Given the description of an element on the screen output the (x, y) to click on. 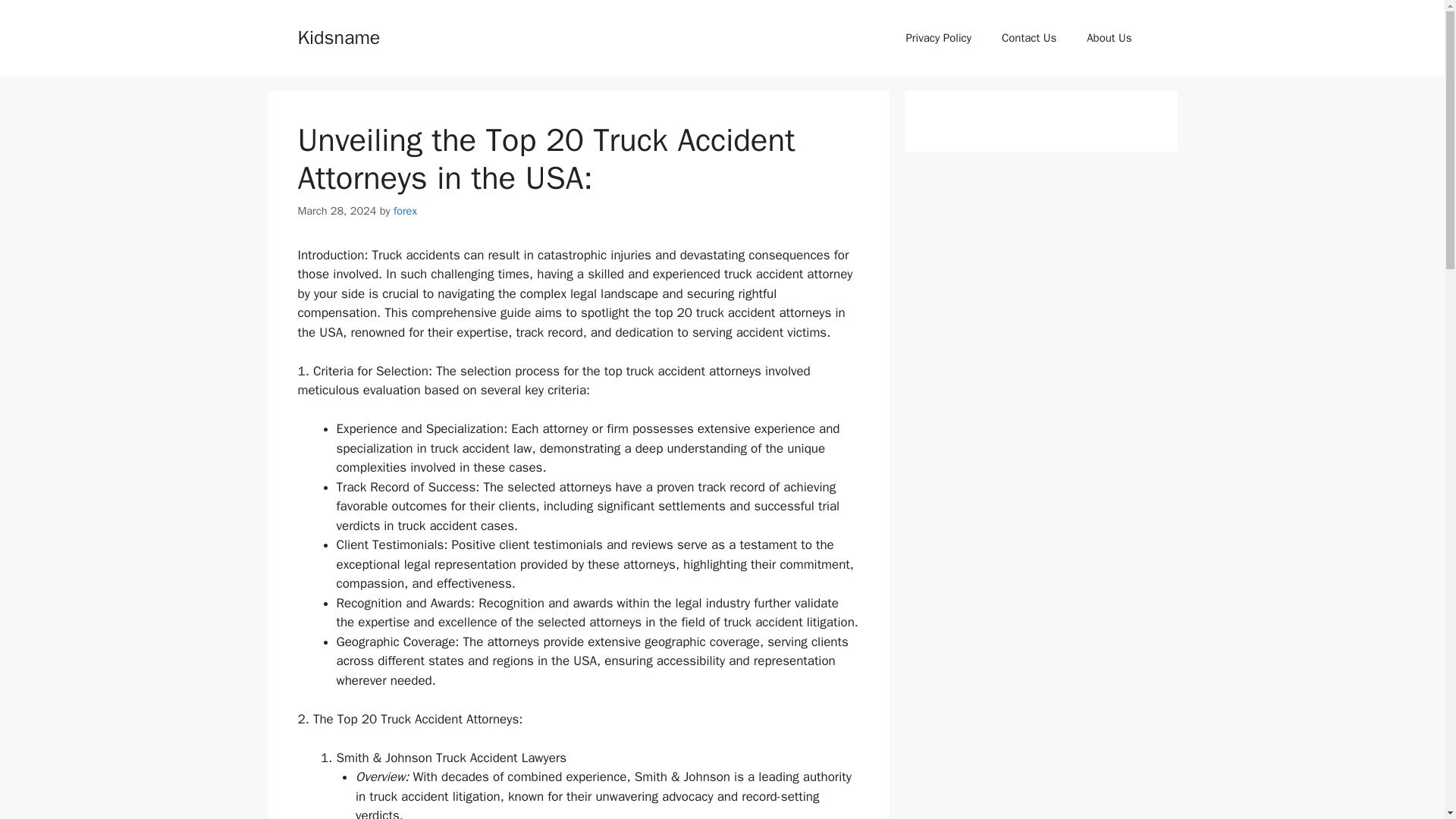
About Us (1109, 37)
View all posts by forex (404, 210)
forex (404, 210)
Contact Us (1029, 37)
Privacy Policy (938, 37)
Kidsname (338, 37)
